Given the description of an element on the screen output the (x, y) to click on. 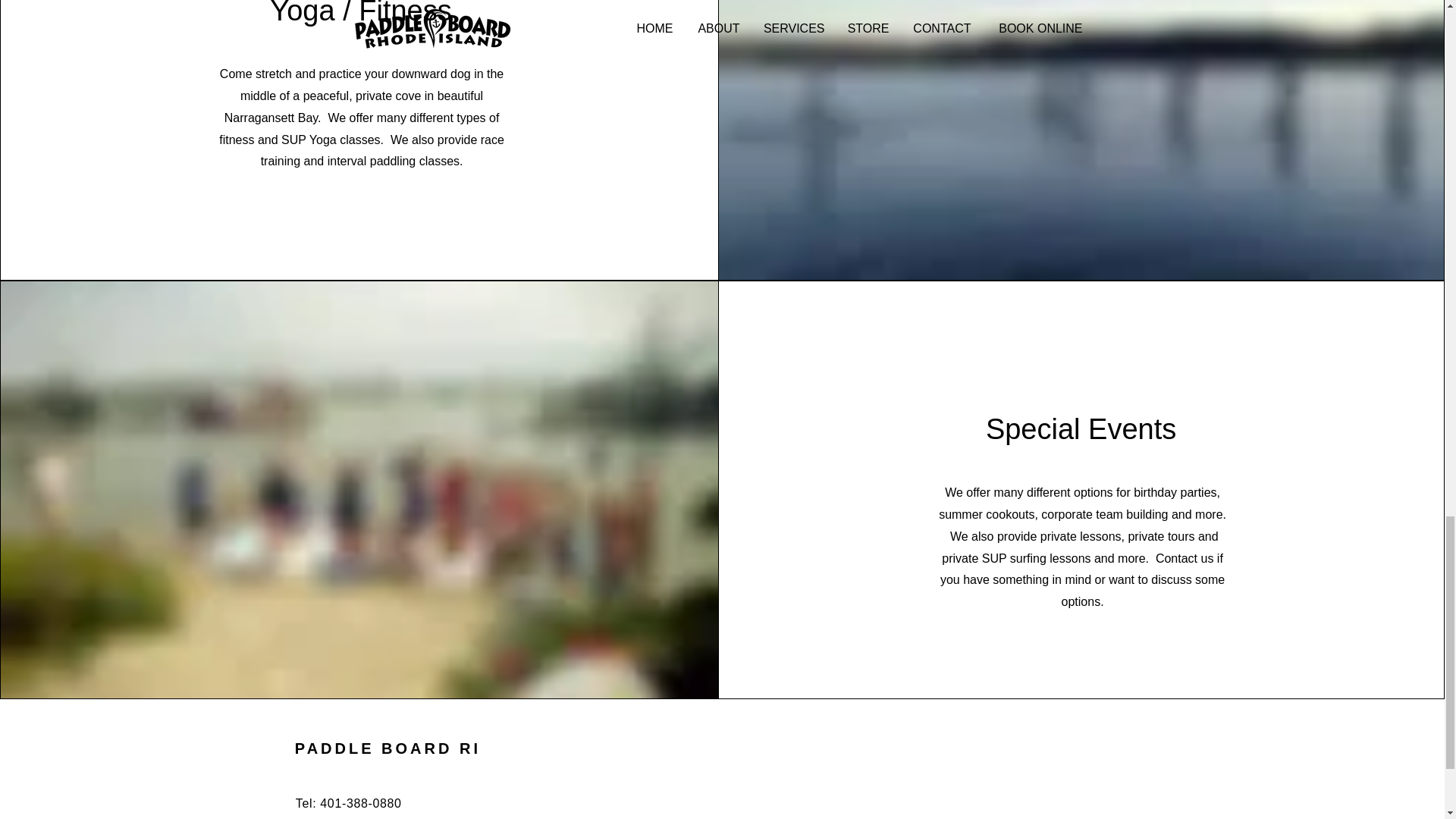
PADDLE BOARD RI (387, 748)
